Given the description of an element on the screen output the (x, y) to click on. 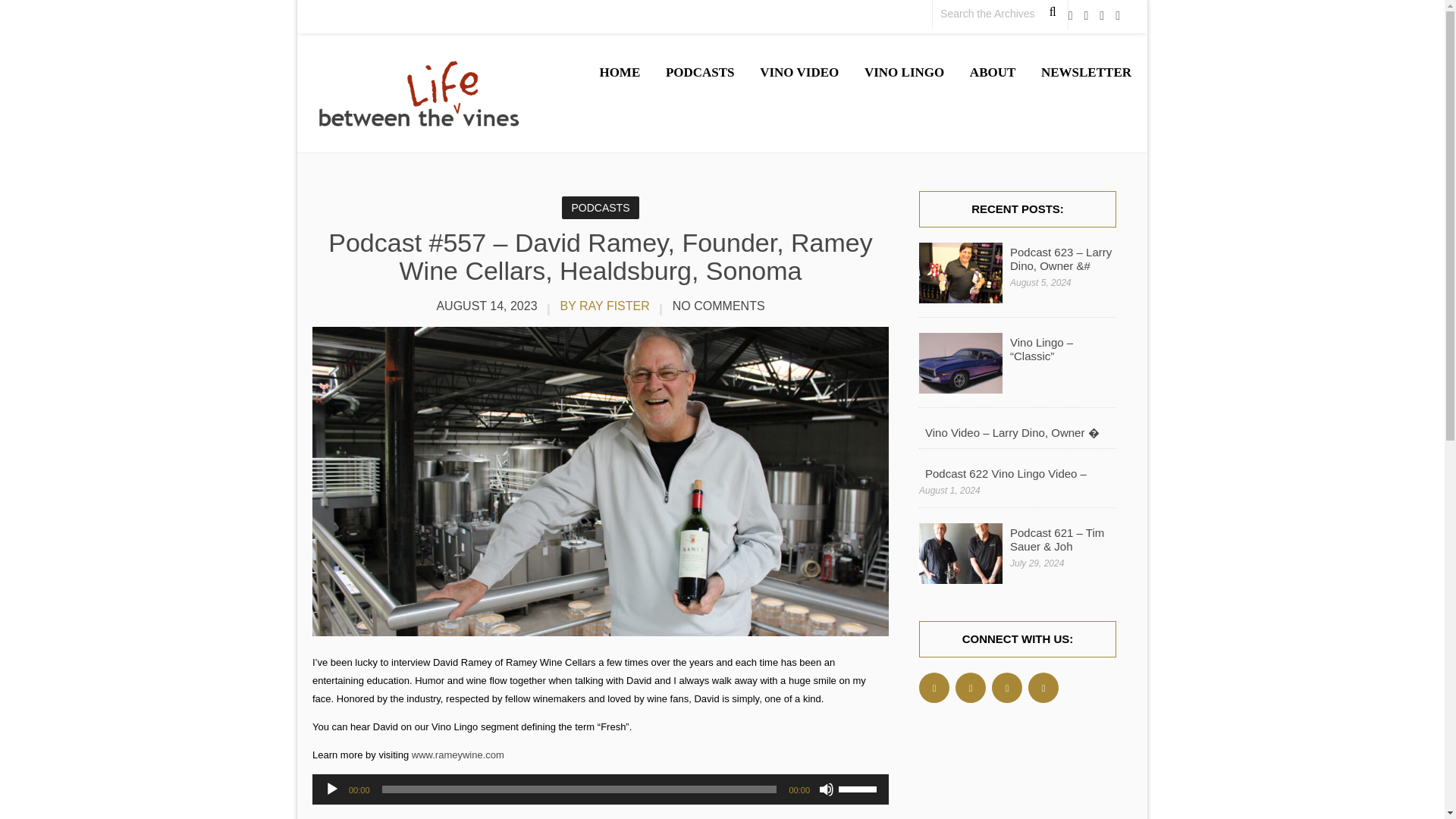
www.rameywine.com (457, 754)
HOME (619, 72)
BY RAY FISTER (604, 305)
AUGUST 14, 2023 (486, 305)
PODCASTS (600, 207)
NO COMMENTS (718, 305)
Download (469, 818)
Play in new window (396, 818)
Play (331, 789)
Download (469, 818)
